Given the description of an element on the screen output the (x, y) to click on. 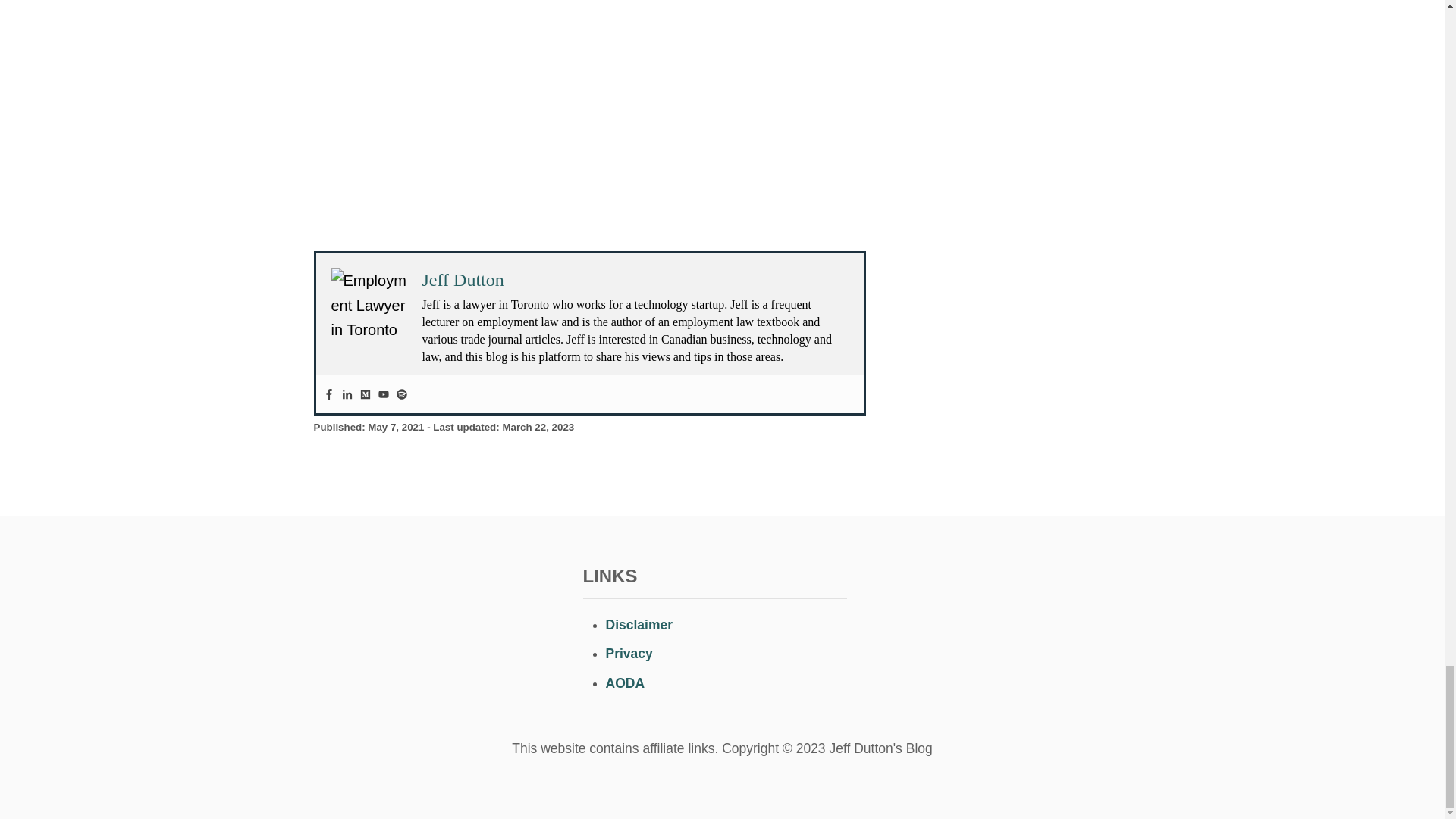
Disclaimer (638, 624)
AODA (625, 683)
Privacy (628, 653)
Jeff Dutton (462, 279)
